Given the description of an element on the screen output the (x, y) to click on. 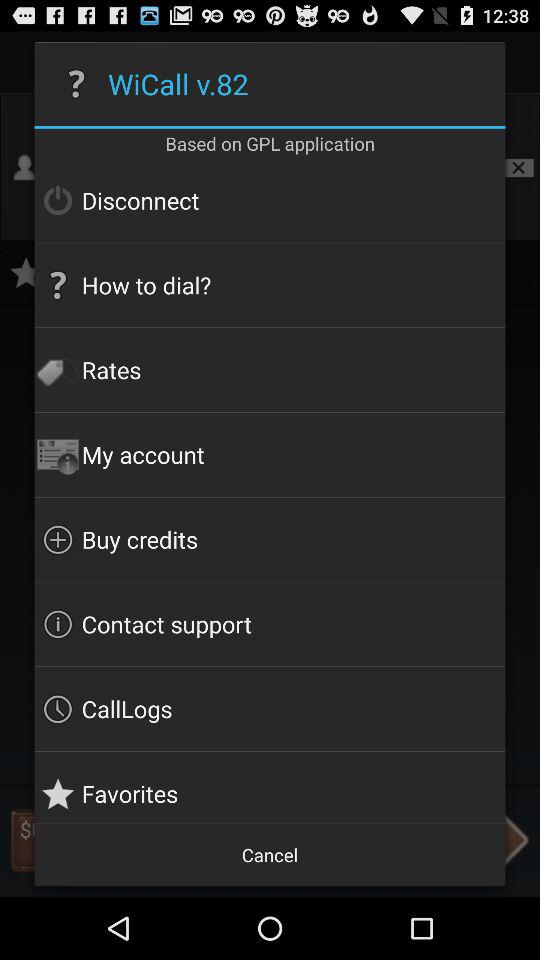
turn off button above cancel item (269, 786)
